Given the description of an element on the screen output the (x, y) to click on. 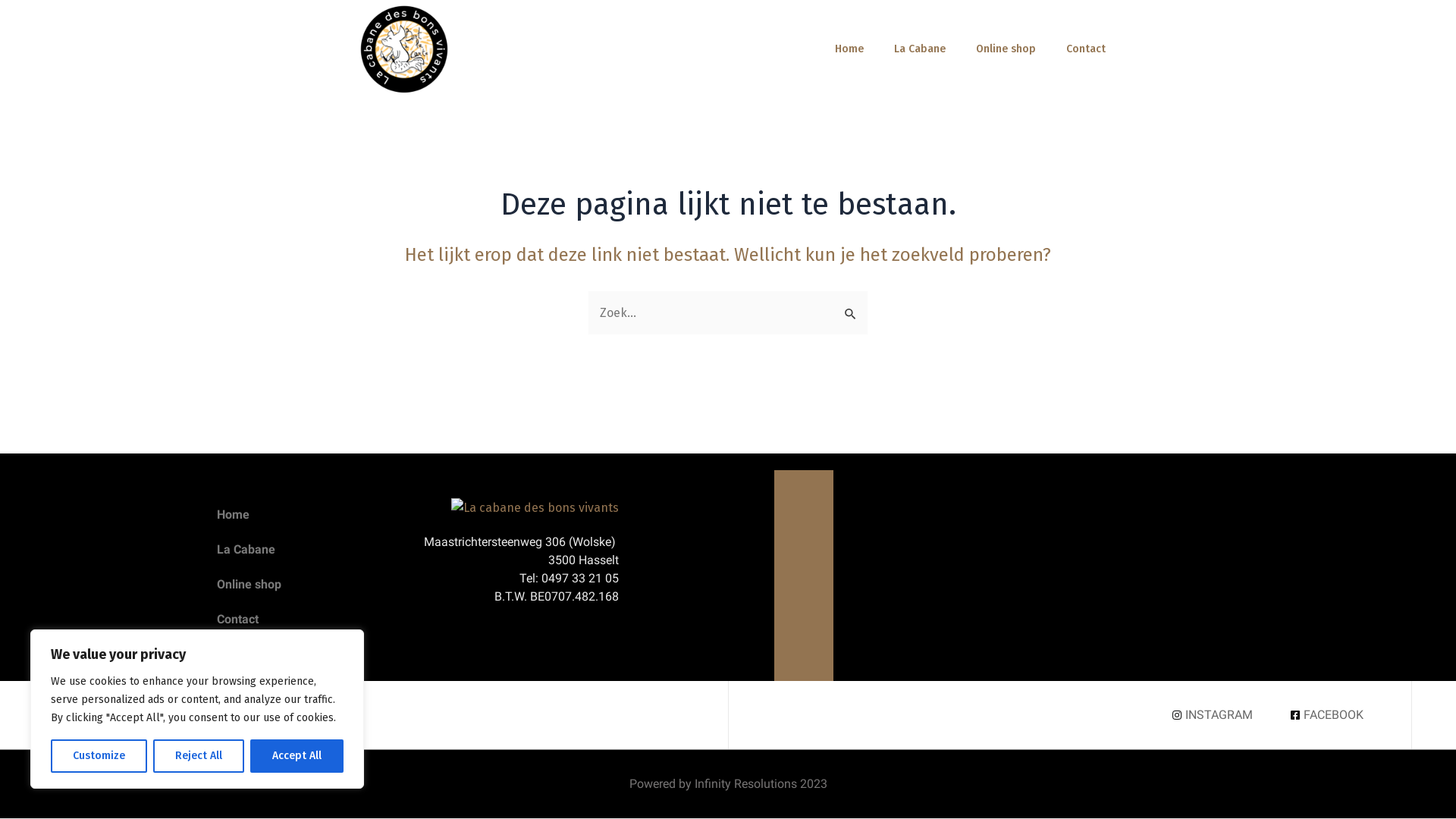
Online shop Element type: text (305, 584)
La Cabane des bons vivants Element type: hover (534, 507)
Reject All Element type: text (198, 755)
La Cabane Element type: text (919, 49)
Online shop Element type: text (1005, 49)
FACEBOOK Element type: text (1325, 715)
Customize Element type: text (98, 755)
Accept All Element type: text (296, 755)
La Cabane Element type: text (305, 549)
INSTAGRAM Element type: text (1209, 715)
Contact Element type: text (305, 619)
Home Element type: text (848, 49)
Home Element type: text (305, 514)
Zoeken Element type: text (851, 306)
Contact Element type: text (1085, 49)
